Given the description of an element on the screen output the (x, y) to click on. 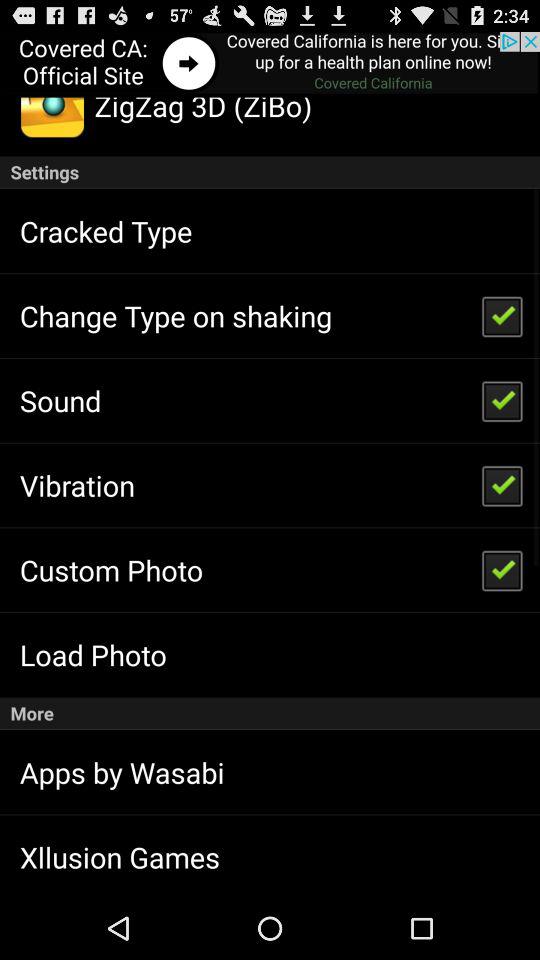
go to the icon above text settings (52, 125)
